Given the description of an element on the screen output the (x, y) to click on. 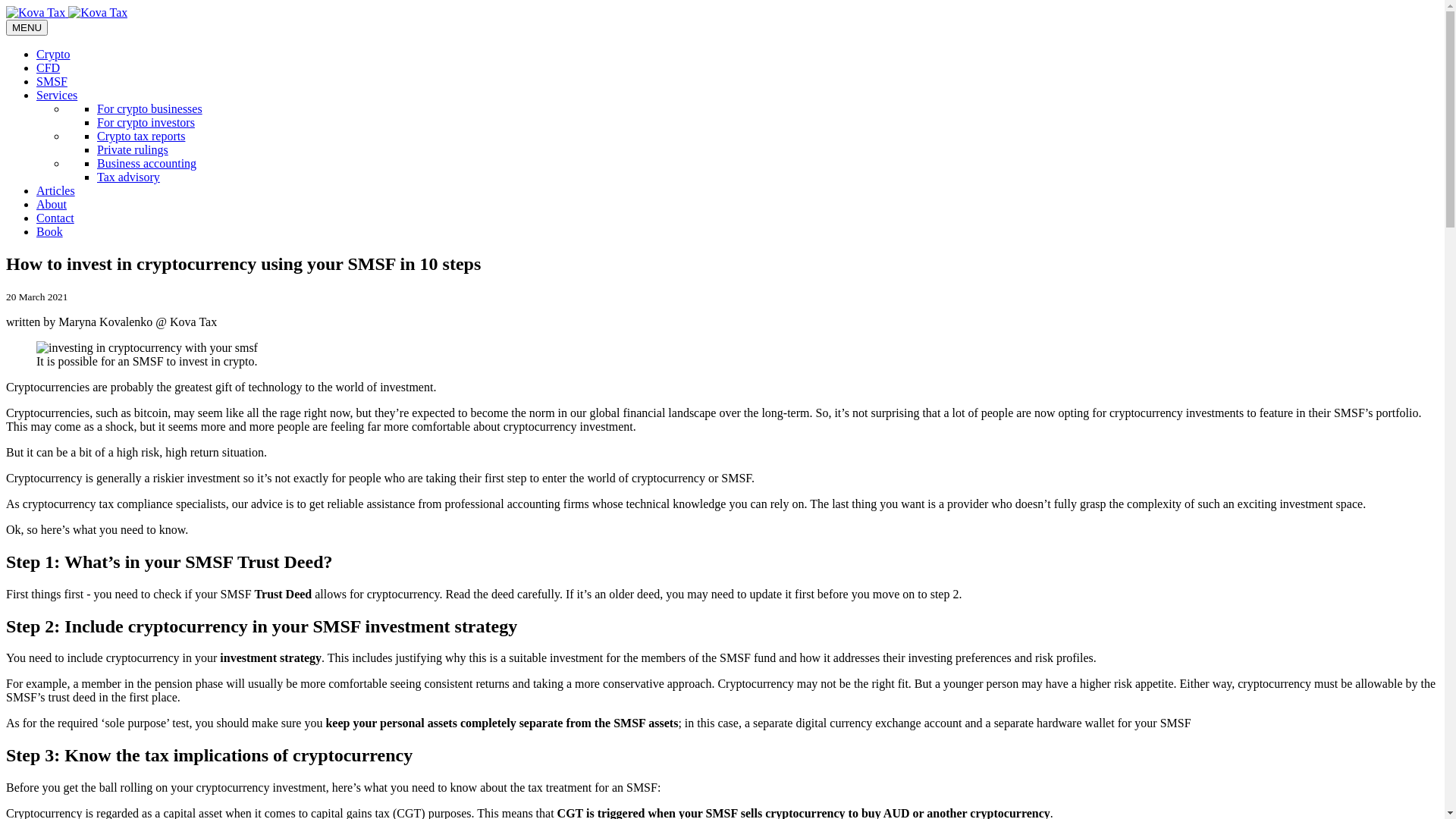
Articles Element type: text (55, 190)
Contact Element type: text (55, 217)
For crypto businesses Element type: text (149, 108)
Private rulings Element type: text (132, 149)
CFD Element type: text (47, 67)
For crypto investors Element type: text (145, 122)
About Element type: text (51, 203)
Crypto tax reports Element type: text (141, 135)
SMSF Element type: text (51, 81)
Crypto Element type: text (52, 53)
Business accounting Element type: text (146, 162)
Services Element type: text (56, 94)
Book Element type: text (49, 231)
MENU Element type: text (26, 27)
Tax advisory Element type: text (128, 176)
